Given the description of an element on the screen output the (x, y) to click on. 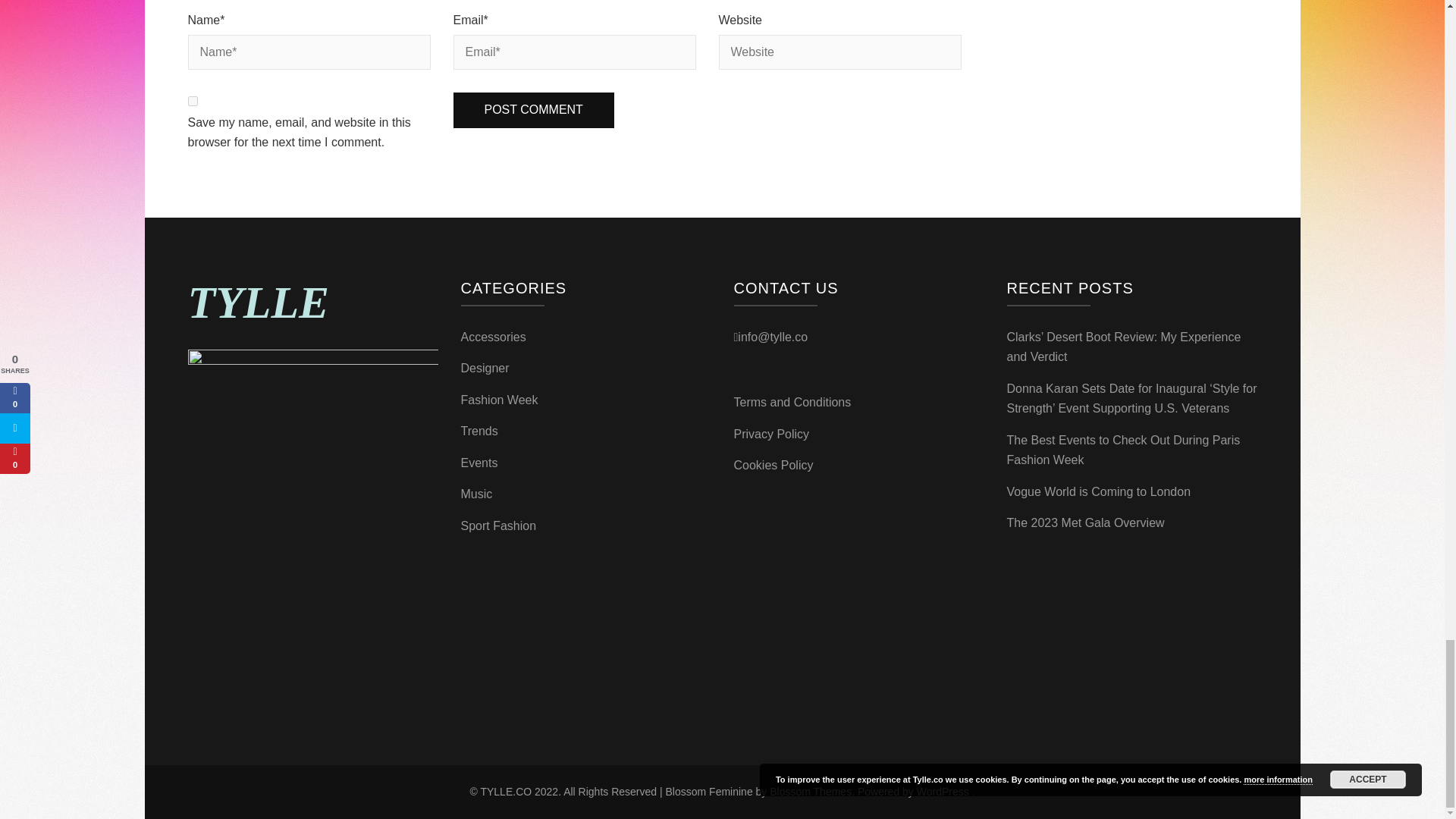
Post Comment (533, 109)
yes (192, 101)
Post Comment (533, 109)
